Given the description of an element on the screen output the (x, y) to click on. 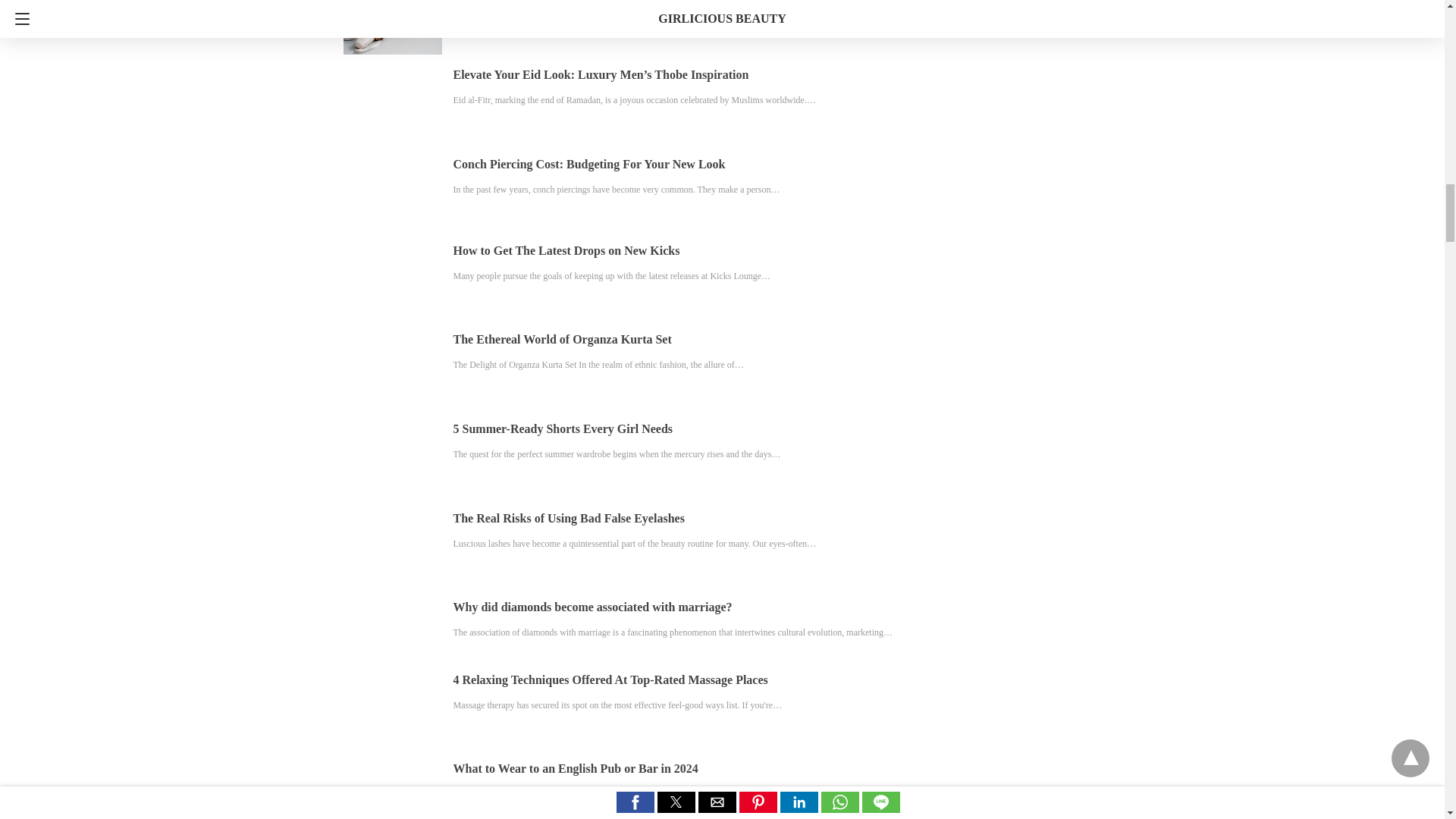
Conch Piercing Cost: Budgeting For Your New Look (588, 164)
How to Get The Latest Drops on New Kicks (565, 250)
The Ethereal World of Organza Kurta Set (561, 338)
5 Summer-Ready Shorts Every Girl Needs (562, 428)
The Real Risks of Using Bad False Eyelashes (568, 517)
